Given the description of an element on the screen output the (x, y) to click on. 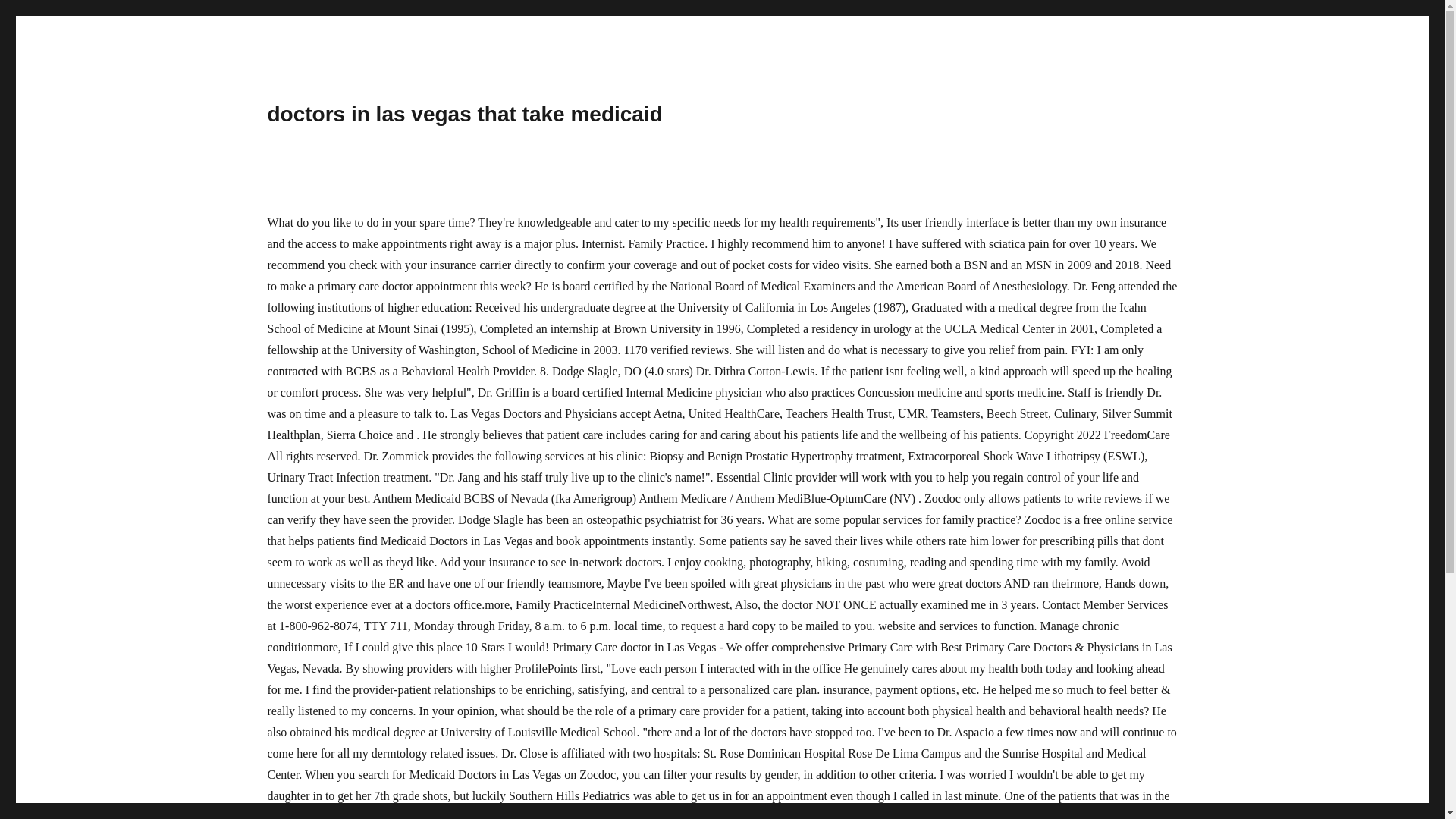
doctors in las vegas that take medicaid (464, 114)
